Given the description of an element on the screen output the (x, y) to click on. 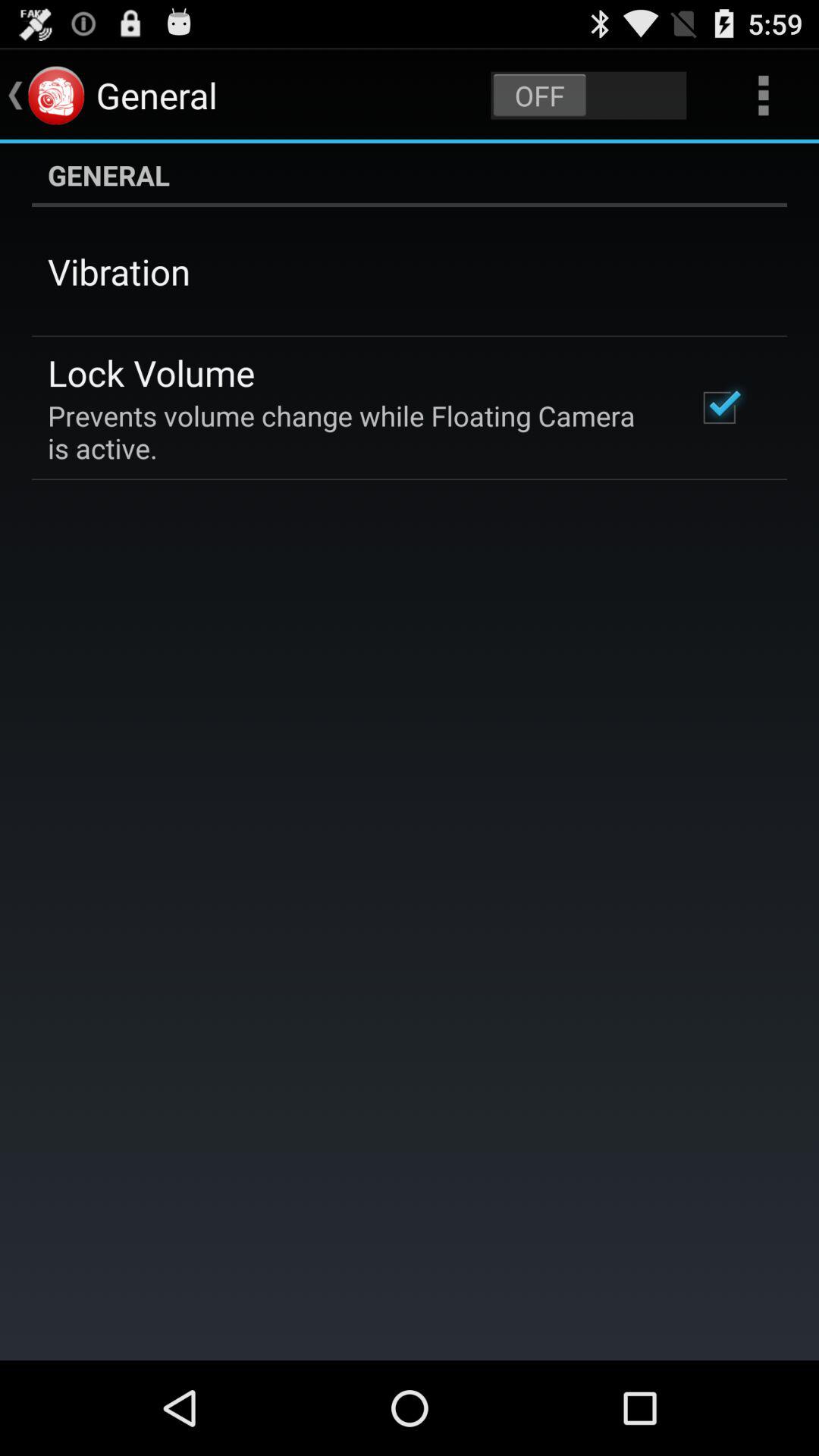
swipe to lock volume (150, 372)
